Given the description of an element on the screen output the (x, y) to click on. 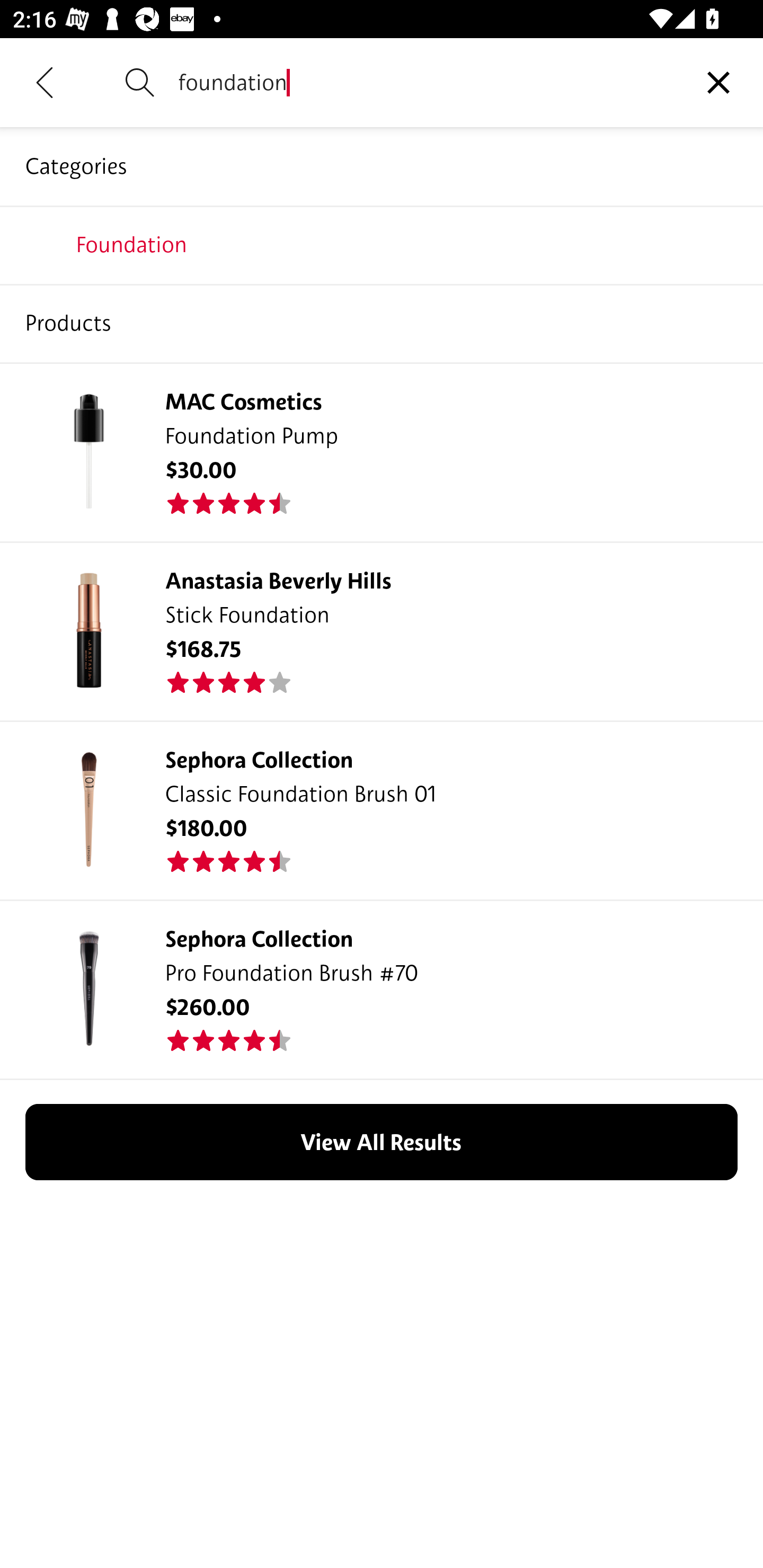
Navigate up (44, 82)
Clear query (718, 81)
foundation (425, 82)
sephora collection (381, 244)
the ordinary (381, 322)
Product Image MAC Cosmetics Foundation Pump $30.00 (381, 451)
View All Results (381, 1141)
